Given the description of an element on the screen output the (x, y) to click on. 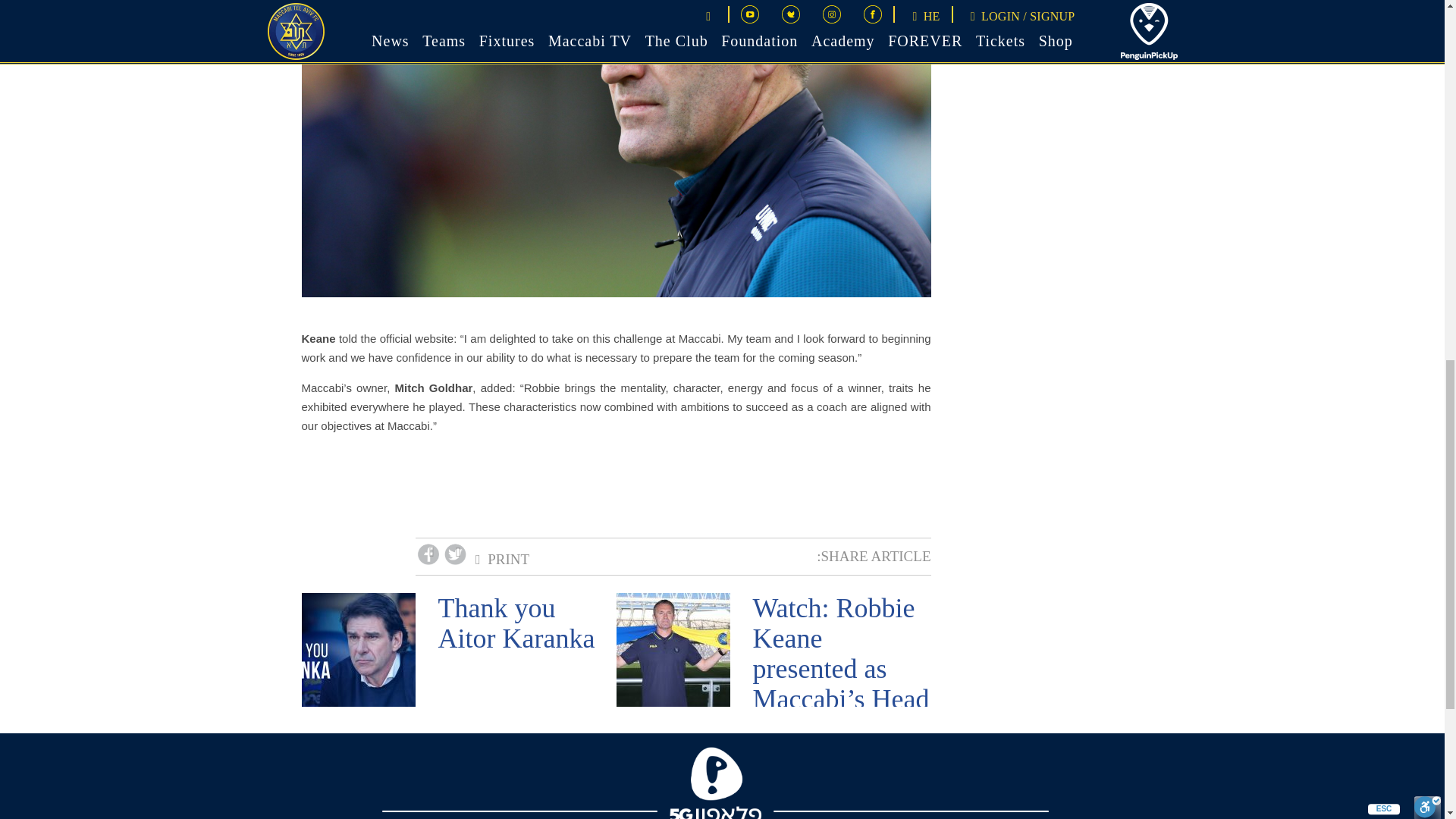
High-contrast presentation of page (392, 32)
Presentation of alternative descriptions permanently (911, 32)
Highlighting all headings marked with title tag (652, 32)
Replace all the fonts to a readable fonts (997, 32)
Presenting an alternative description on mouseover (825, 32)
Using a large white Cursor (46, 90)
Decreasing the display size of texts (1170, 32)
Cancel and Stop display flashes and animations (133, 32)
Inverting the colors of the screen display (565, 32)
High-contrast of black and yellow (478, 32)
